Given the description of an element on the screen output the (x, y) to click on. 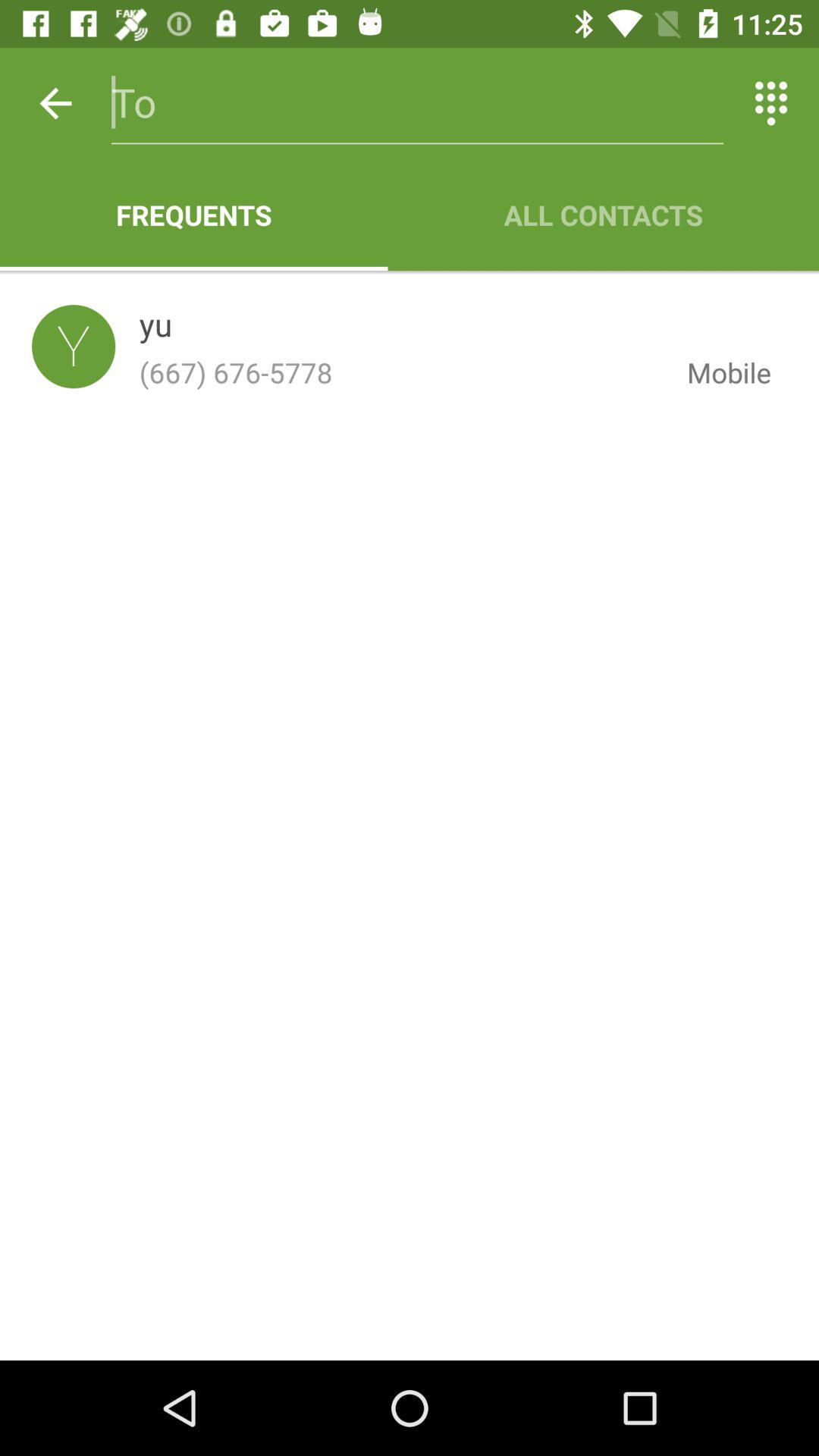
open the app above frequents item (55, 103)
